Given the description of an element on the screen output the (x, y) to click on. 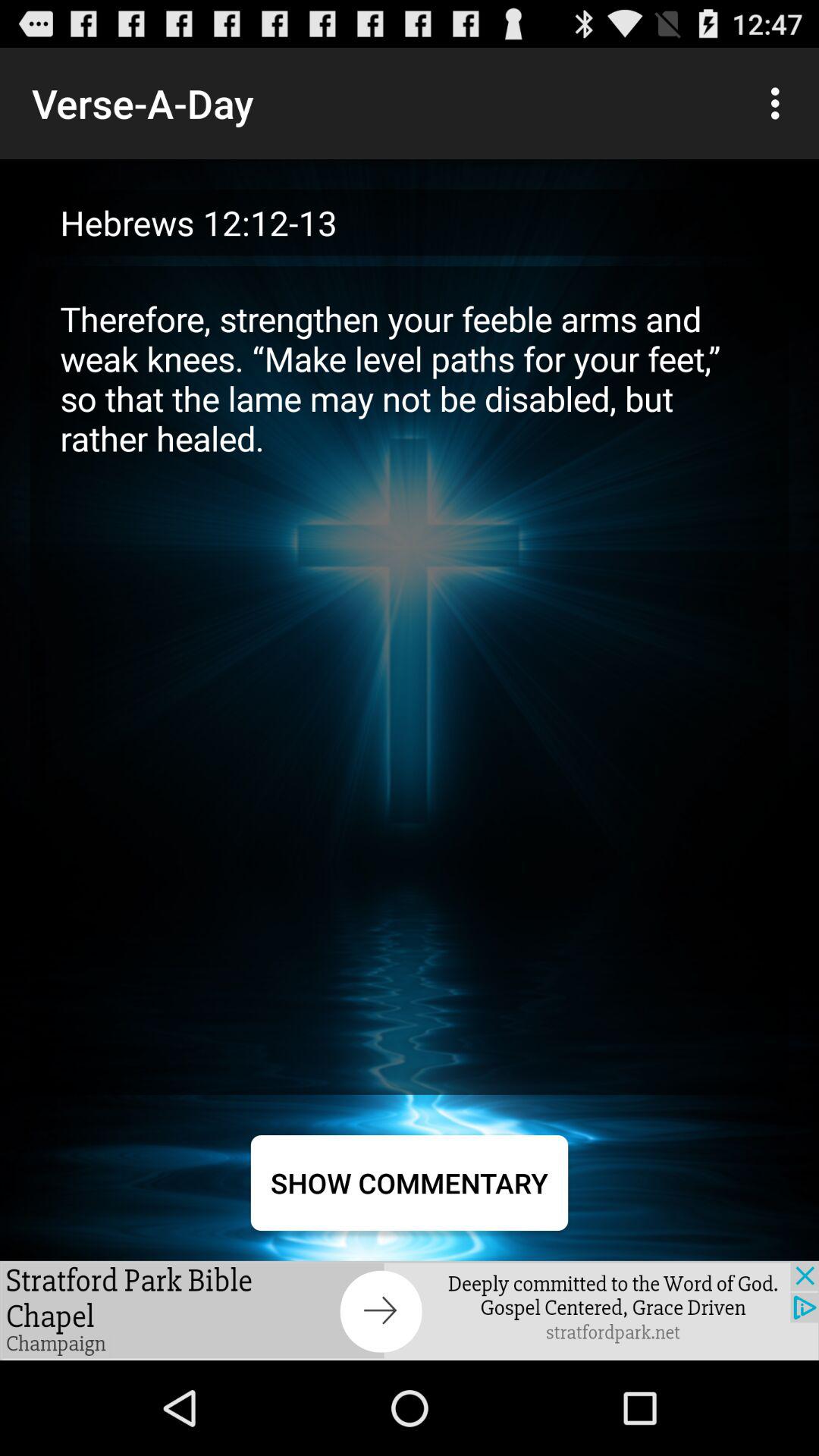
press show commentary (409, 1182)
